Given the description of an element on the screen output the (x, y) to click on. 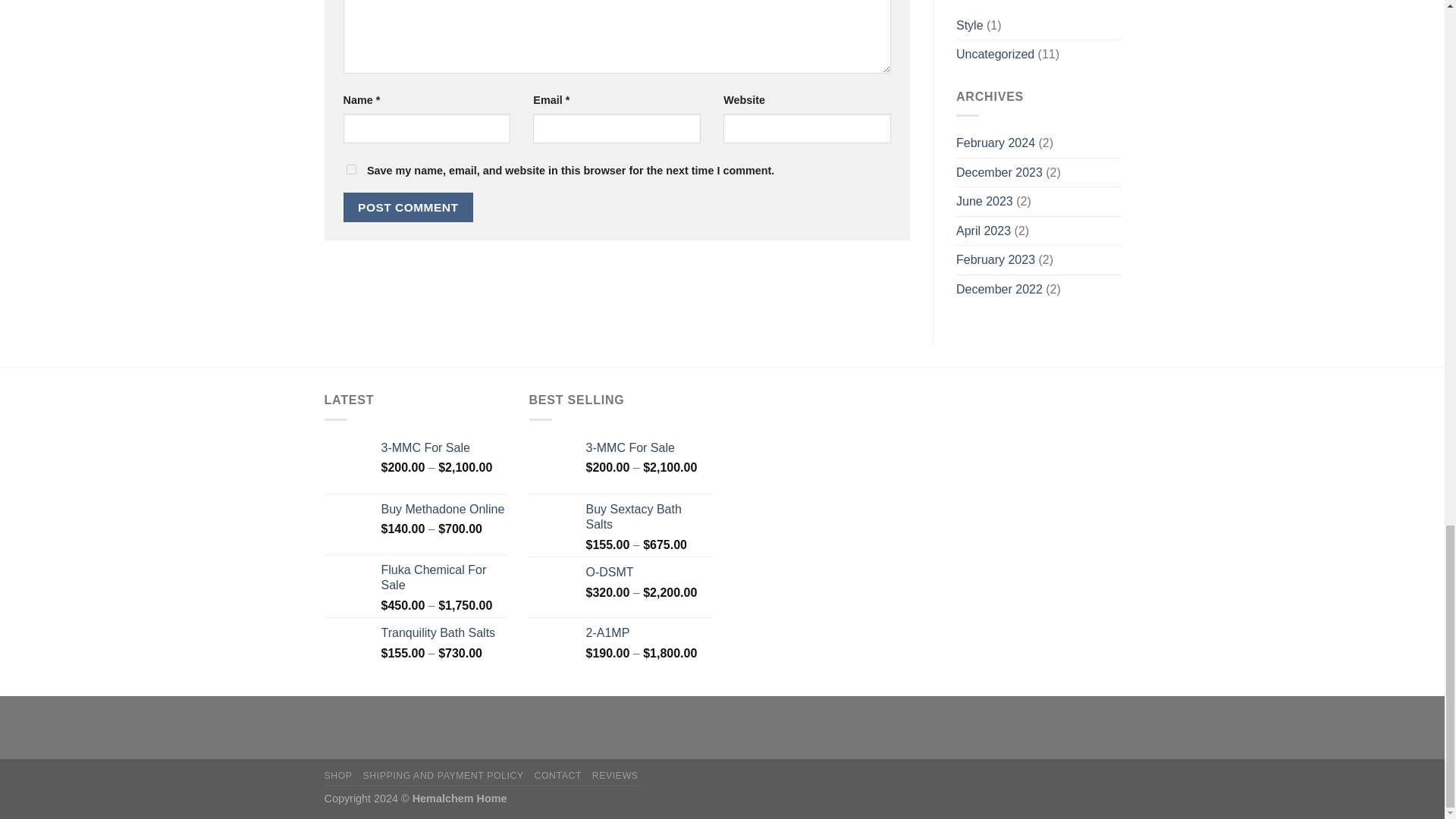
yes (350, 169)
Post Comment (407, 206)
Post Comment (407, 206)
